Given the description of an element on the screen output the (x, y) to click on. 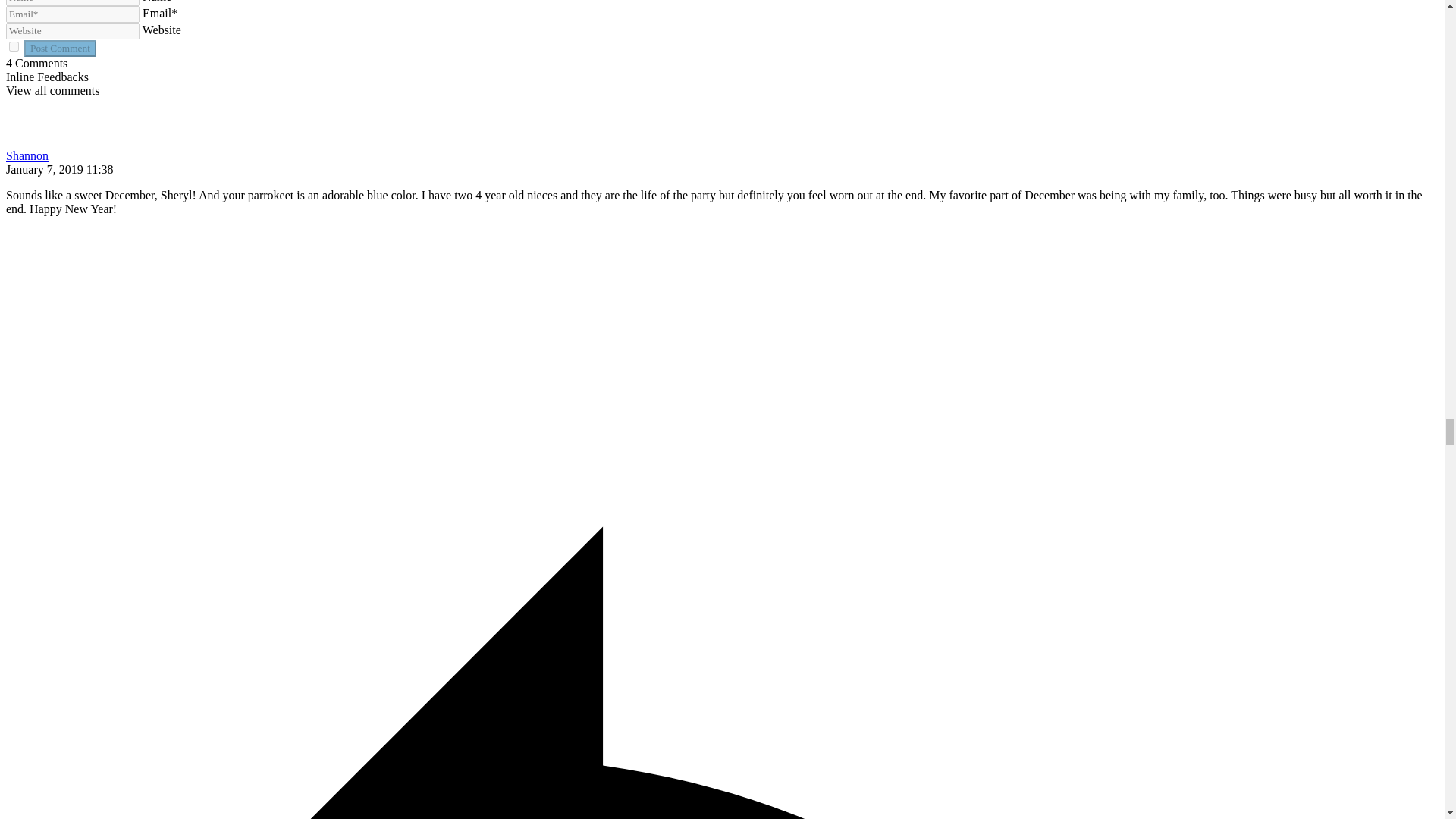
comment (13, 46)
Post Comment (60, 48)
